Given the description of an element on the screen output the (x, y) to click on. 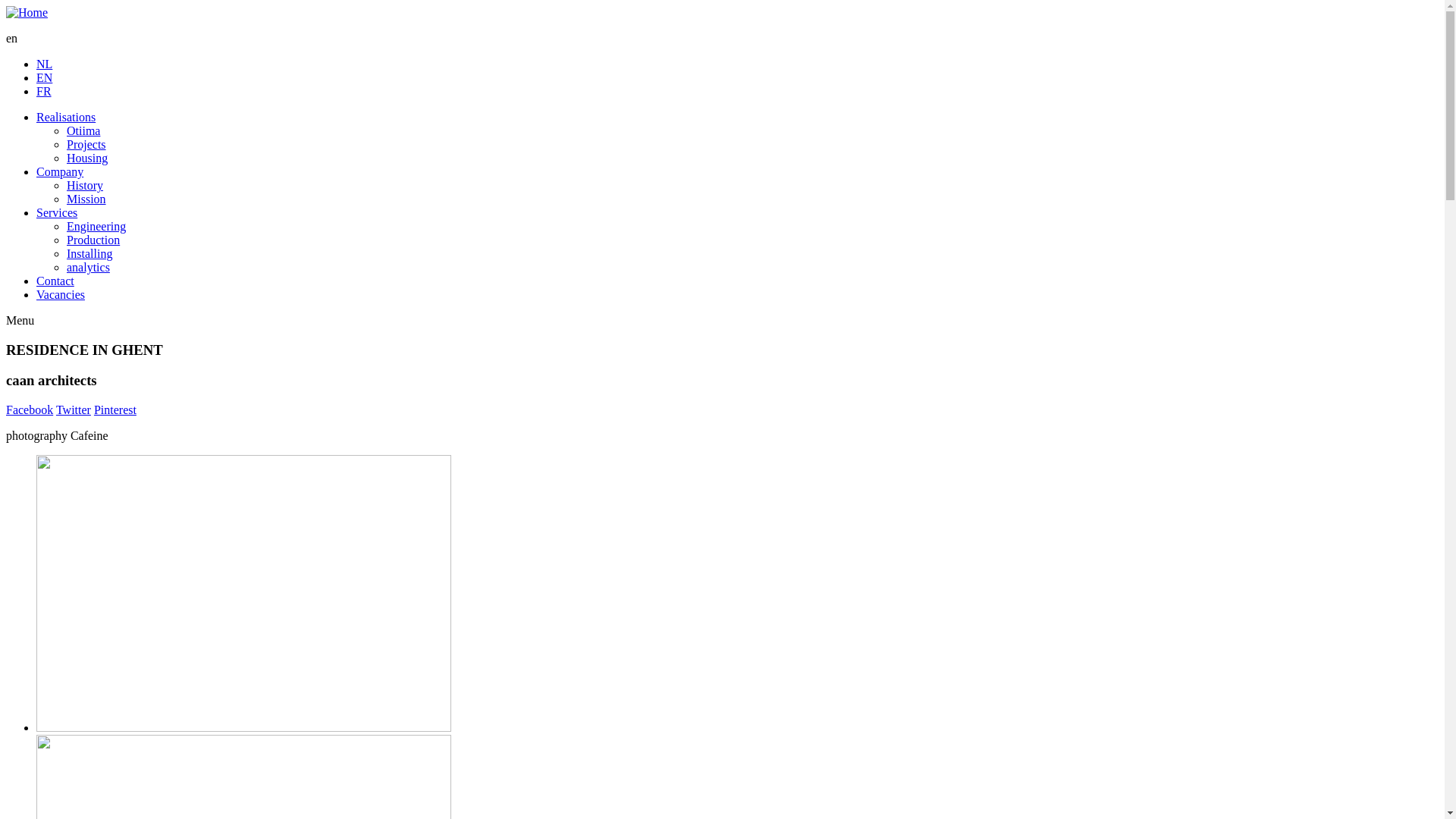
Company Element type: text (59, 171)
Vacancies Element type: text (60, 294)
NL Element type: text (44, 63)
Housing Element type: text (86, 157)
Contact Element type: text (55, 280)
History Element type: text (84, 184)
EN Element type: text (44, 77)
Projects Element type: text (86, 144)
Pinterest Element type: text (115, 409)
Home Element type: hover (26, 12)
Realisations Element type: text (65, 116)
Mission Element type: text (86, 198)
Otiima Element type: text (83, 130)
Services Element type: text (56, 212)
Facebook Element type: text (29, 409)
Twitter Element type: text (73, 409)
FR Element type: text (43, 90)
analytics Element type: text (87, 266)
Installing Element type: text (89, 253)
Engineering Element type: text (95, 225)
Production Element type: text (92, 239)
